Given the description of an element on the screen output the (x, y) to click on. 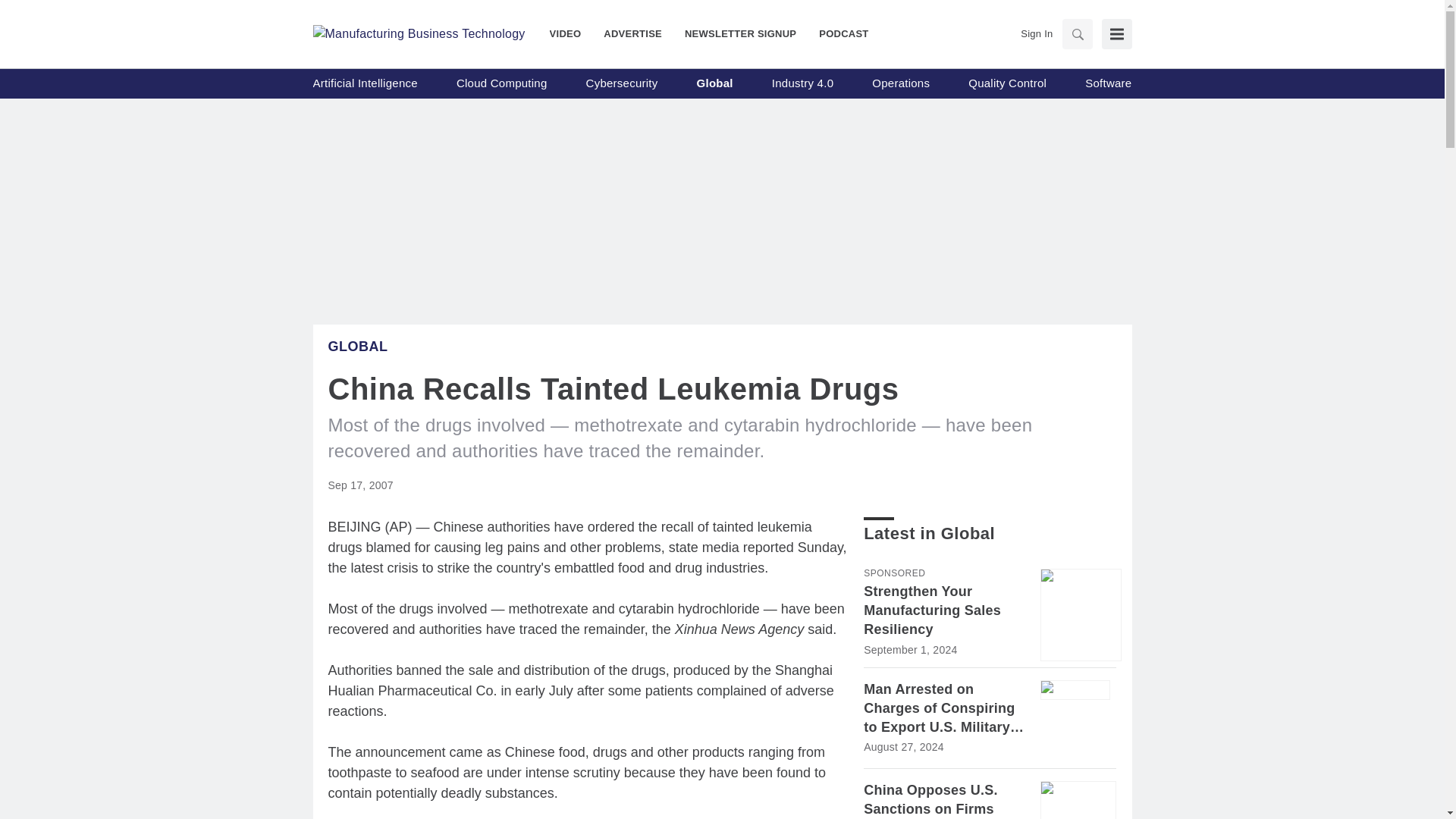
PODCAST (837, 33)
Operations (901, 83)
ADVERTISE (632, 33)
NEWSLETTER SIGNUP (740, 33)
Global (357, 346)
VIDEO (571, 33)
Cybersecurity (622, 83)
Cloud Computing (502, 83)
Quality Control (1007, 83)
Sponsored (893, 573)
